Given the description of an element on the screen output the (x, y) to click on. 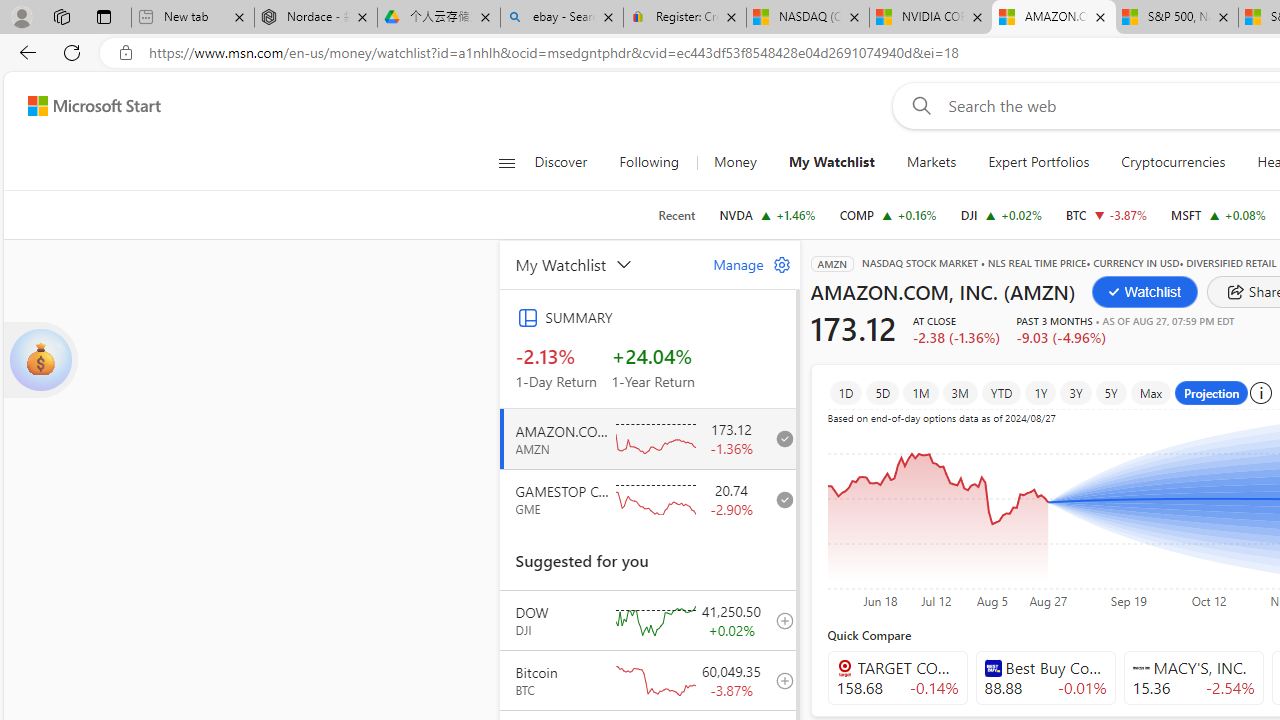
Cryptocurrencies (1172, 162)
3M (959, 392)
Following (648, 162)
Recent (676, 215)
